Given the description of an element on the screen output the (x, y) to click on. 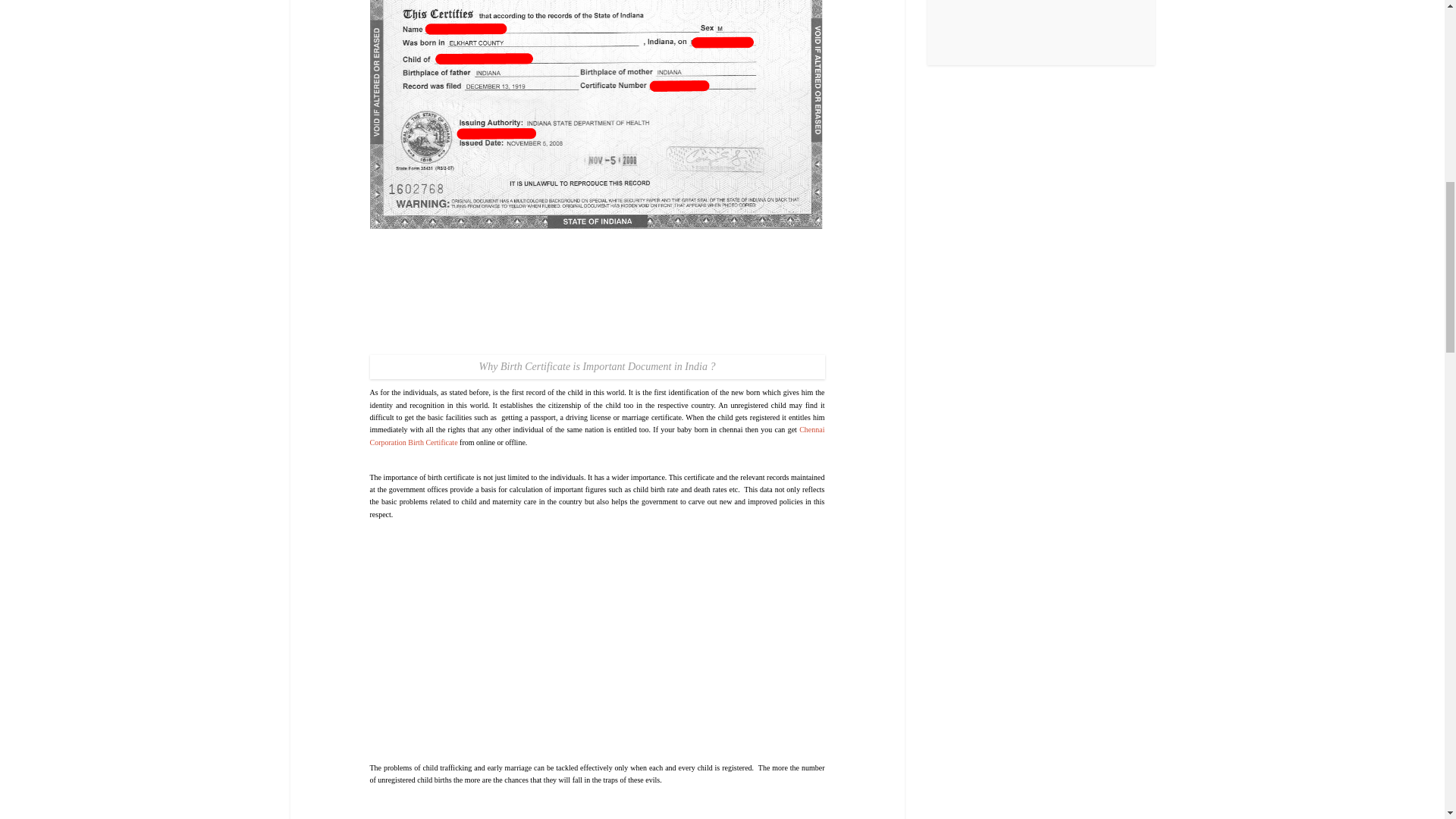
Advertisement (597, 814)
Advertisement (597, 649)
Advertisement (597, 291)
